Given the description of an element on the screen output the (x, y) to click on. 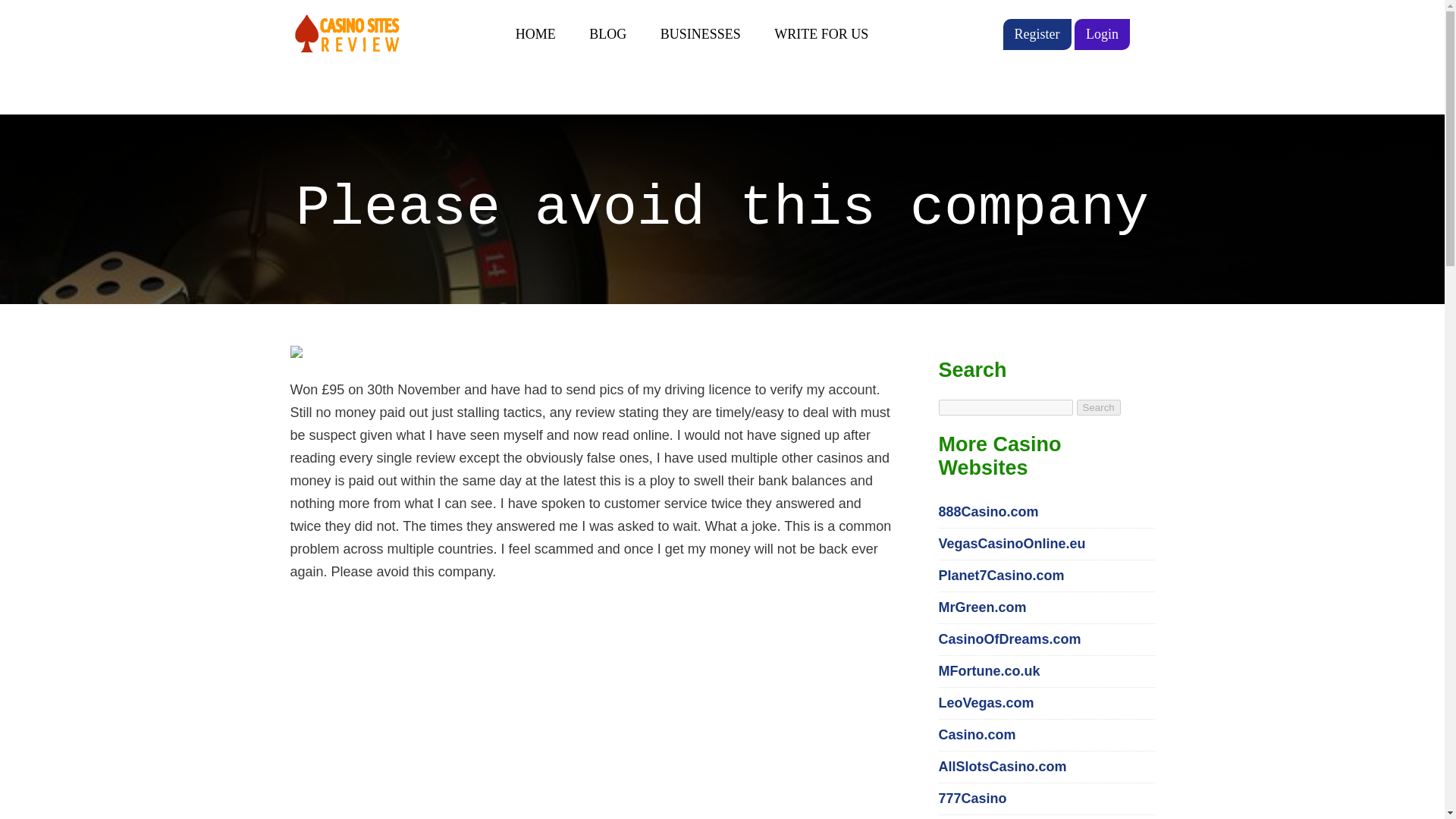
Search (1099, 407)
MFortune.co.uk (990, 670)
Login (1101, 33)
LeoVegas.com (986, 702)
CasinoOfDreams.com (1010, 639)
888Casino.com (989, 511)
Search (1099, 407)
AllSlotsCasino.com (1003, 766)
BLOG (607, 33)
Register (1036, 33)
